Given the description of an element on the screen output the (x, y) to click on. 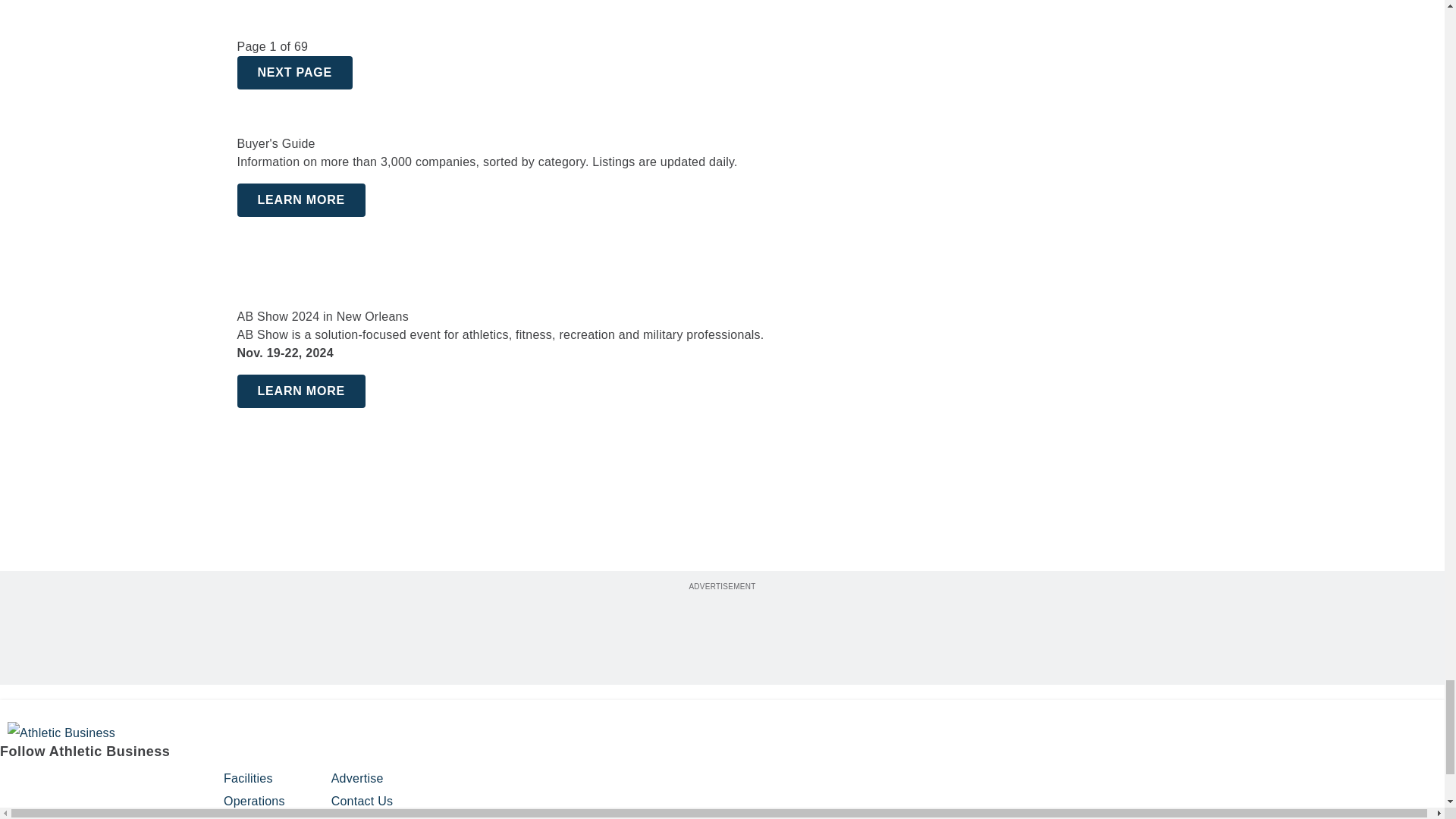
Instagram icon (52, 784)
Twitter X icon (168, 784)
YouTube icon (129, 784)
LinkedIn icon (90, 784)
Facebook icon (13, 784)
